Given the description of an element on the screen output the (x, y) to click on. 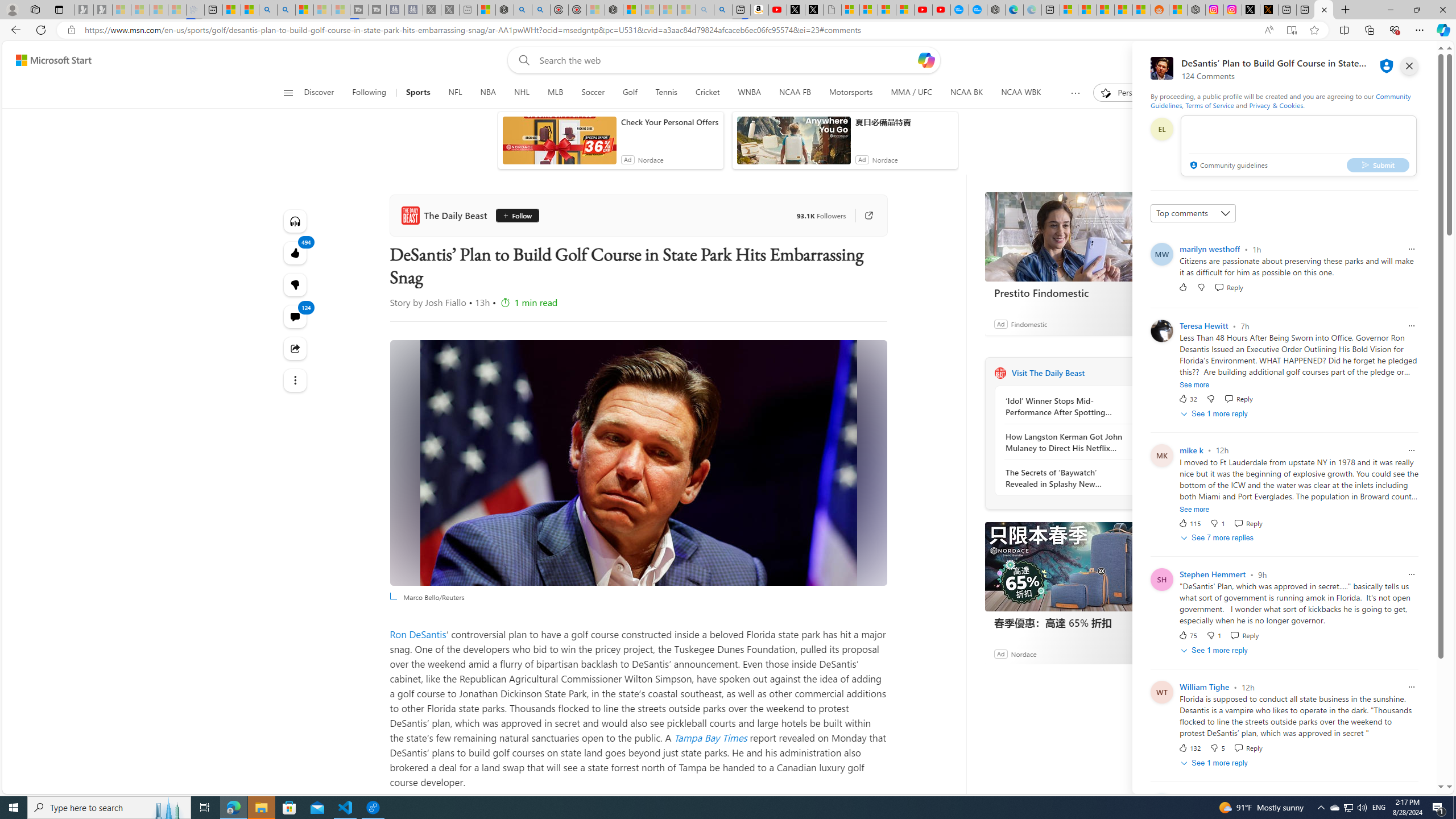
Profile Picture (1161, 804)
Marco Bello/Reuters (638, 462)
Marco Bello/Reuters (638, 462)
Reply Reply Comment (1247, 748)
To get missing image descriptions, open the context menu. (1105, 92)
Soccer (592, 92)
Discover (319, 92)
MLB (555, 92)
Ad Choice (1142, 653)
NCAA BK (966, 92)
132 Like (1189, 748)
